Given the description of an element on the screen output the (x, y) to click on. 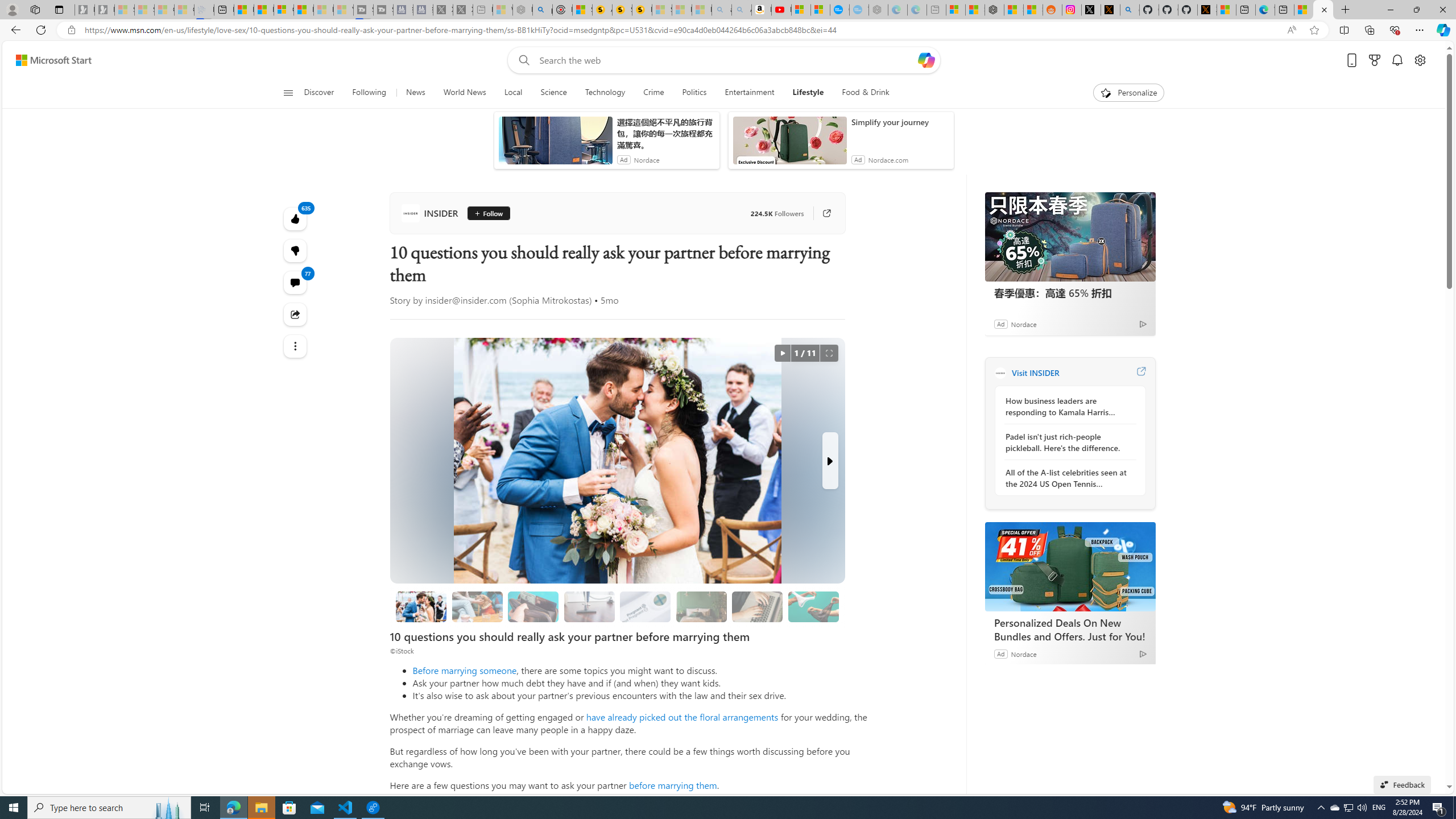
Nordace - Nordace has arrived Hong Kong - Sleeping (877, 9)
Nordace - Summer Adventures 2024 - Sleeping (522, 9)
Nordace.com (887, 159)
635 Like (295, 218)
Crime (653, 92)
Amazon Echo Dot PNG - Search Images - Sleeping (741, 9)
Day 1: Arriving in Yemen (surreal to be here) - YouTube (781, 9)
How important is sex to you? (812, 606)
Microsoft Start - Sleeping (322, 9)
X Privacy Policy (1206, 9)
